Given the description of an element on the screen output the (x, y) to click on. 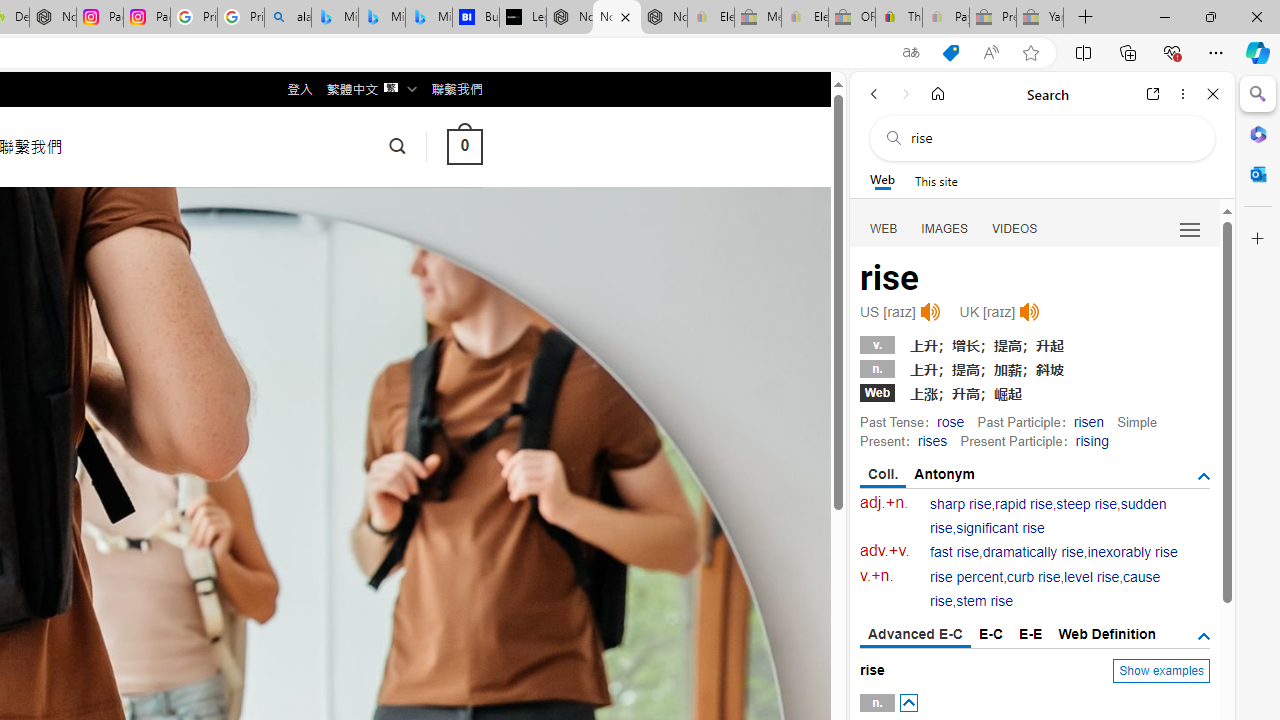
risen (1088, 421)
Search Filter, IMAGES (944, 228)
Class: b_serphb (1190, 229)
curb rise (1033, 577)
inexorably rise (1131, 552)
dramatically rise (1032, 552)
Search Filter, WEB (884, 228)
alabama high school quarterback dies - Search (288, 17)
